Given the description of an element on the screen output the (x, y) to click on. 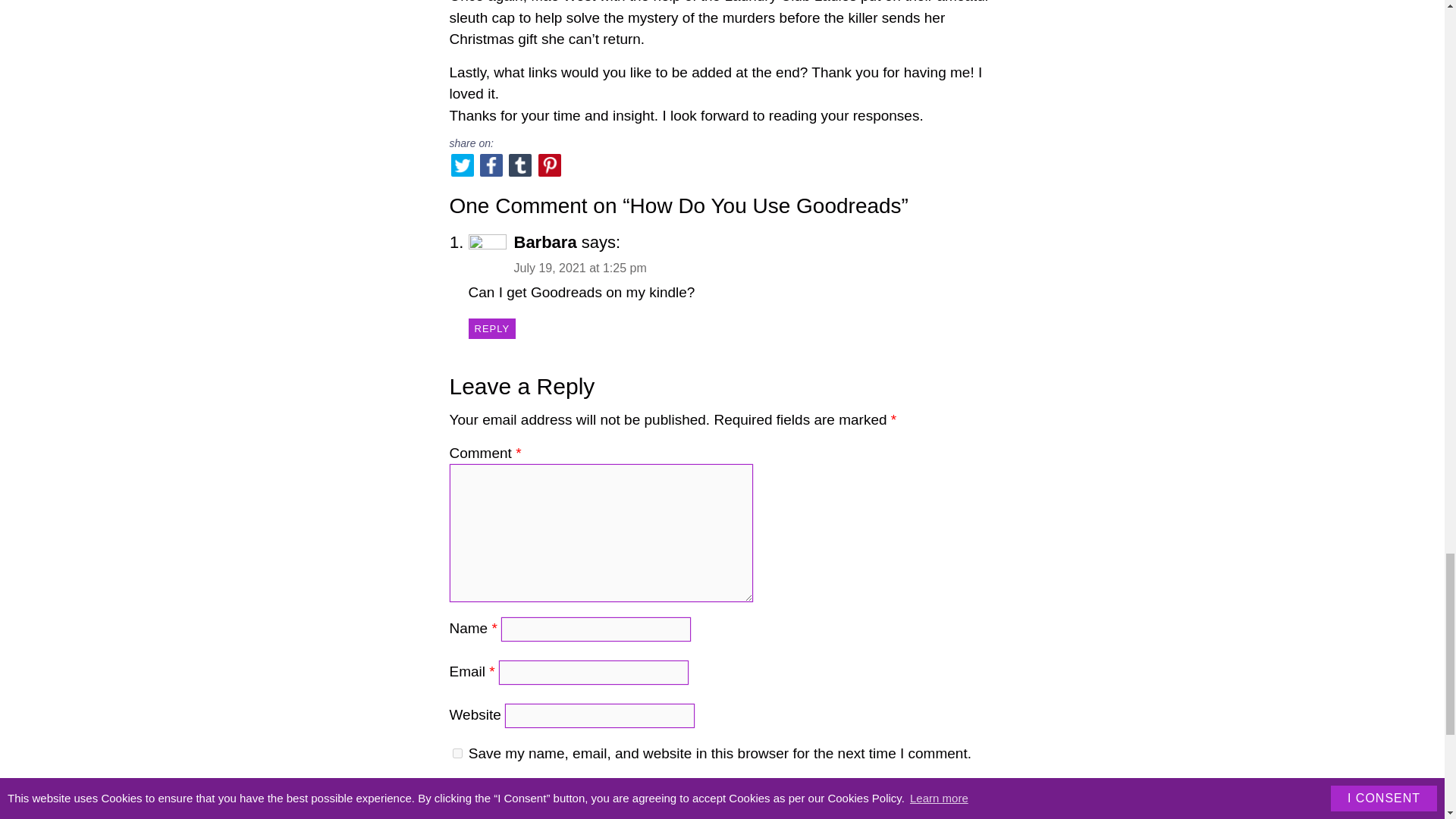
Post Comment (511, 792)
July 19, 2021 at 1:25 pm (579, 267)
yes (456, 753)
Post Comment (511, 792)
REPLY (492, 328)
